Given the description of an element on the screen output the (x, y) to click on. 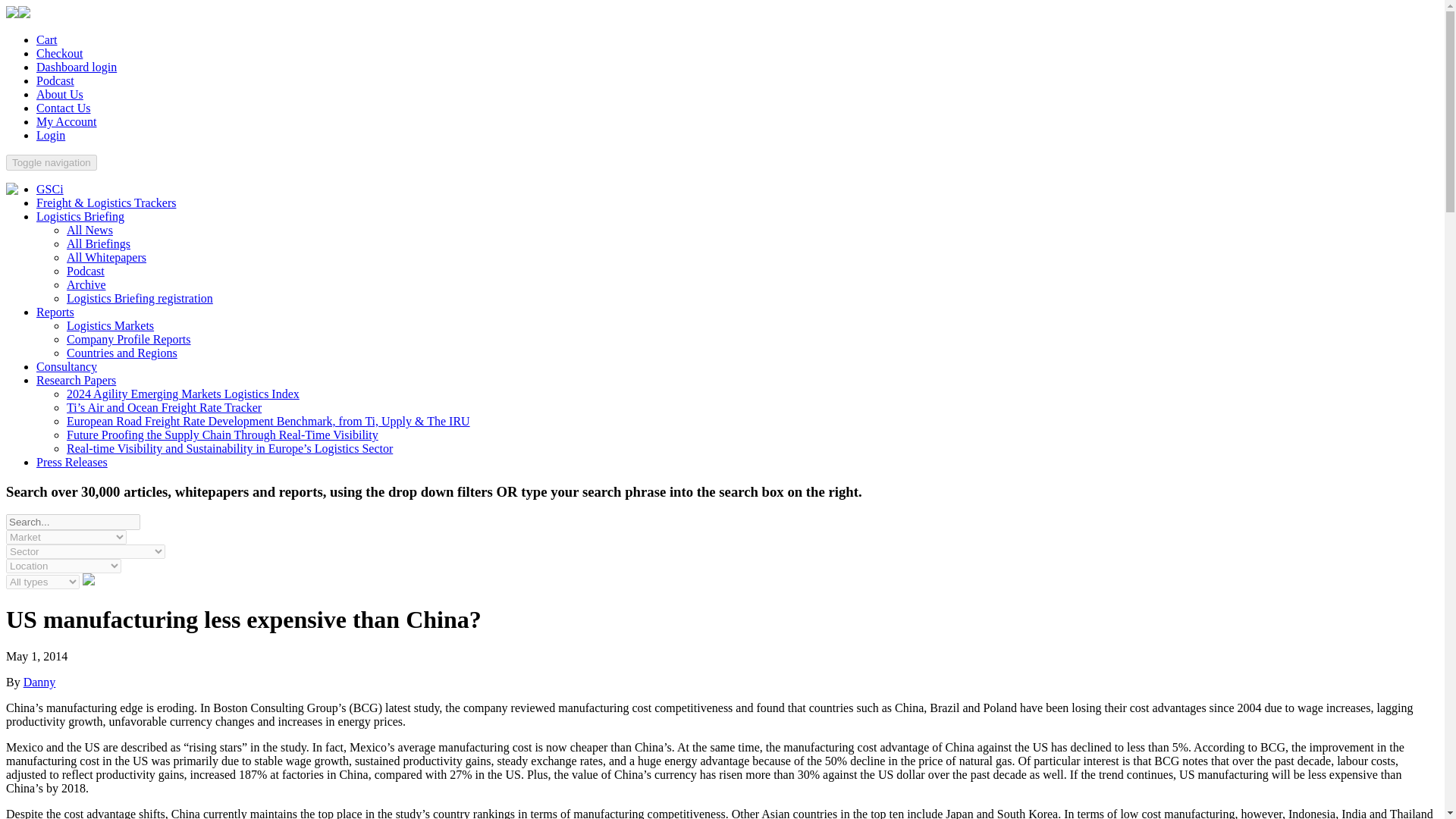
2024 Agility Emerging Markets Logistics Index (182, 393)
Logistics Markets (110, 325)
Toggle navigation (51, 162)
Podcast (55, 80)
All Whitepapers (106, 256)
Logistics Briefing (79, 215)
Research Papers (76, 379)
Logistics Briefing registration (139, 297)
All Briefings (98, 243)
My Account (66, 121)
